Given the description of an element on the screen output the (x, y) to click on. 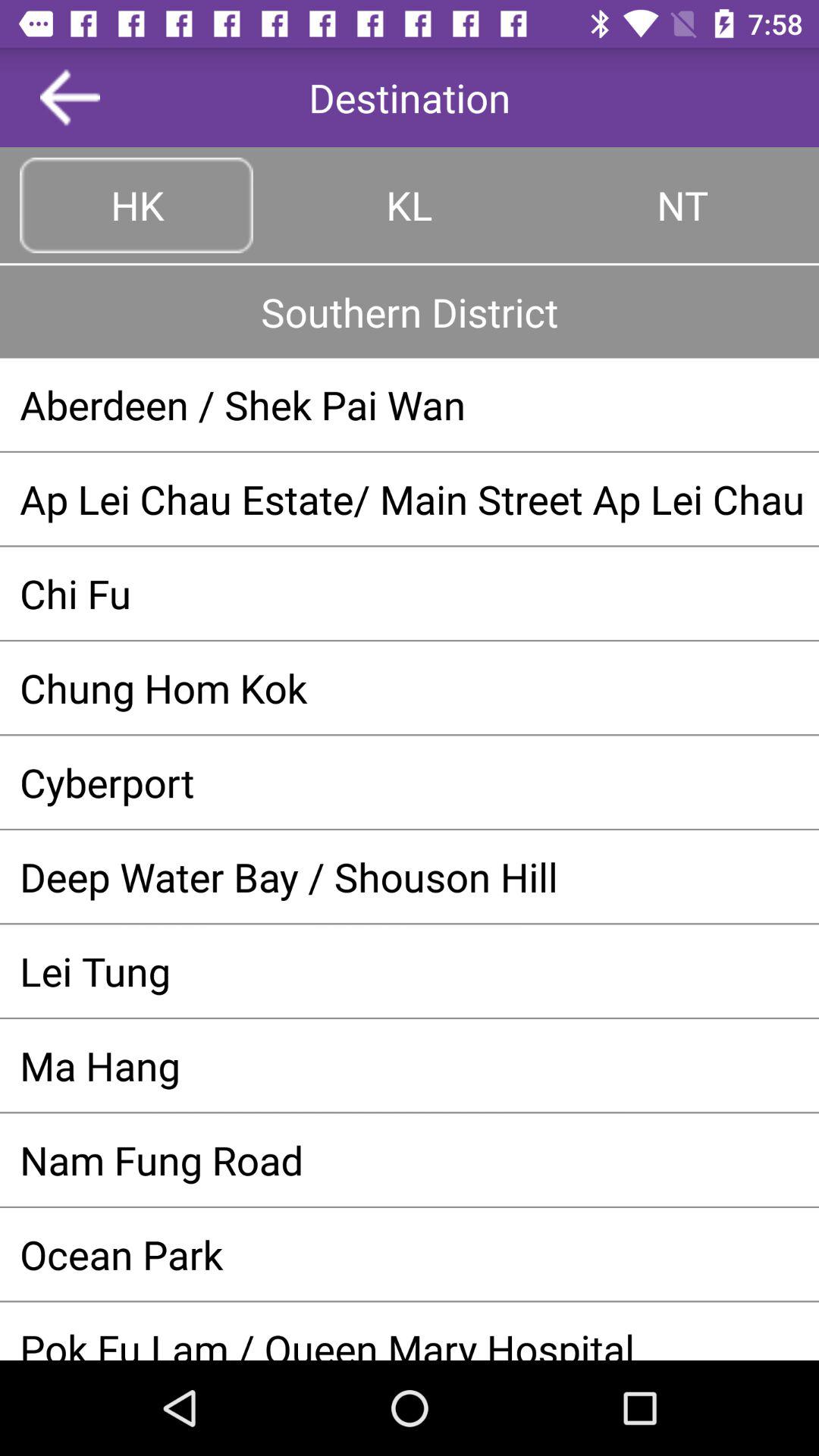
launch cyberport app (409, 781)
